Given the description of an element on the screen output the (x, y) to click on. 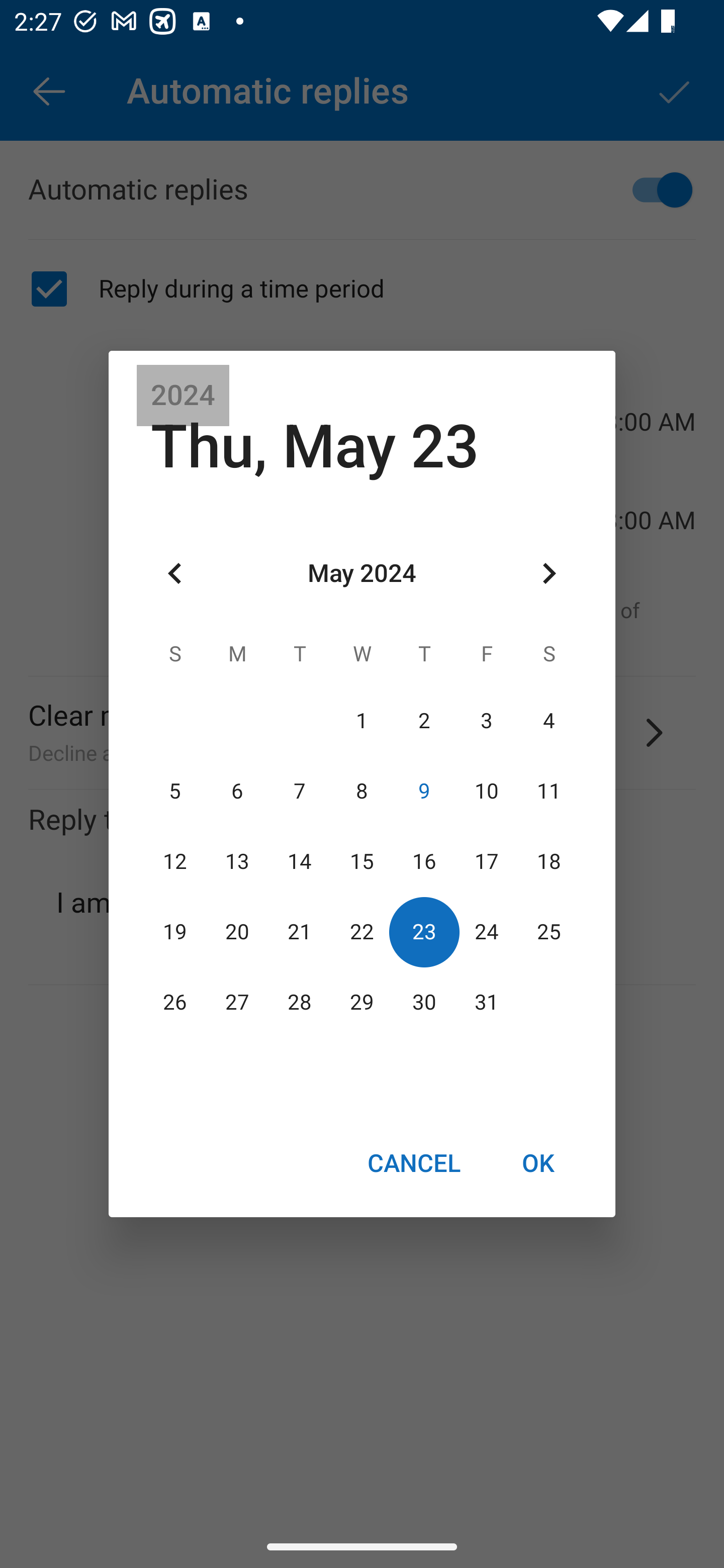
2024 (182, 395)
Thu, May 23 (314, 446)
Previous month (174, 573)
Next month (548, 573)
1 01 May 2024 (361, 720)
2 02 May 2024 (424, 720)
3 03 May 2024 (486, 720)
4 04 May 2024 (548, 720)
5 05 May 2024 (175, 790)
6 06 May 2024 (237, 790)
7 07 May 2024 (299, 790)
8 08 May 2024 (361, 790)
9 09 May 2024 (424, 790)
10 10 May 2024 (486, 790)
11 11 May 2024 (548, 790)
12 12 May 2024 (175, 861)
13 13 May 2024 (237, 861)
14 14 May 2024 (299, 861)
15 15 May 2024 (361, 861)
16 16 May 2024 (424, 861)
17 17 May 2024 (486, 861)
18 18 May 2024 (548, 861)
19 19 May 2024 (175, 931)
20 20 May 2024 (237, 931)
21 21 May 2024 (299, 931)
22 22 May 2024 (361, 931)
23 23 May 2024 (424, 931)
24 24 May 2024 (486, 931)
25 25 May 2024 (548, 931)
26 26 May 2024 (175, 1002)
27 27 May 2024 (237, 1002)
28 28 May 2024 (299, 1002)
29 29 May 2024 (361, 1002)
30 30 May 2024 (424, 1002)
31 31 May 2024 (486, 1002)
CANCEL (413, 1162)
OK (537, 1162)
